Given the description of an element on the screen output the (x, y) to click on. 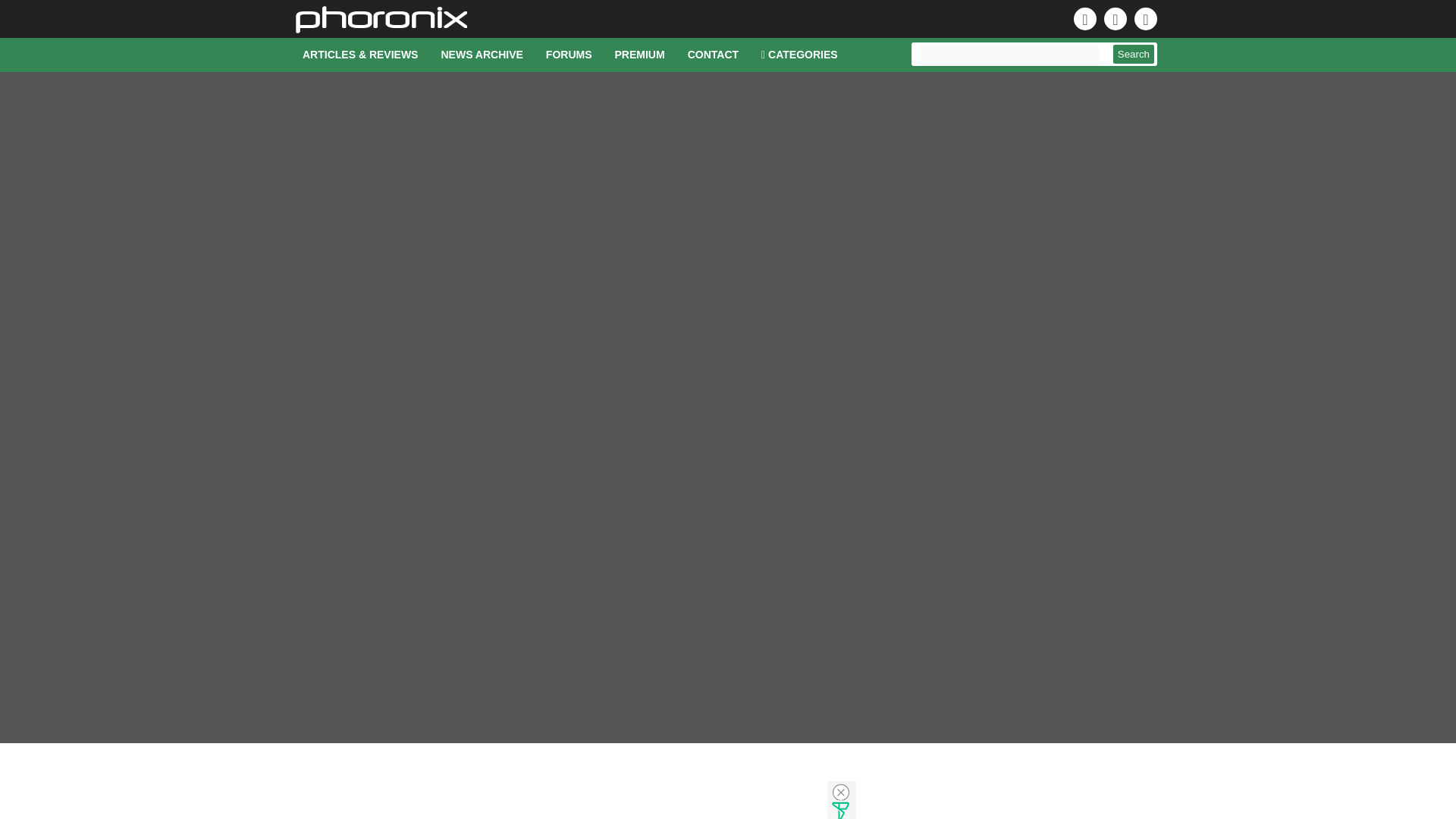
PREMIUM (640, 54)
FORUMS (569, 54)
CONTACT (713, 54)
Search (1133, 54)
Search (1133, 54)
NEWS ARCHIVE (481, 54)
